Given the description of an element on the screen output the (x, y) to click on. 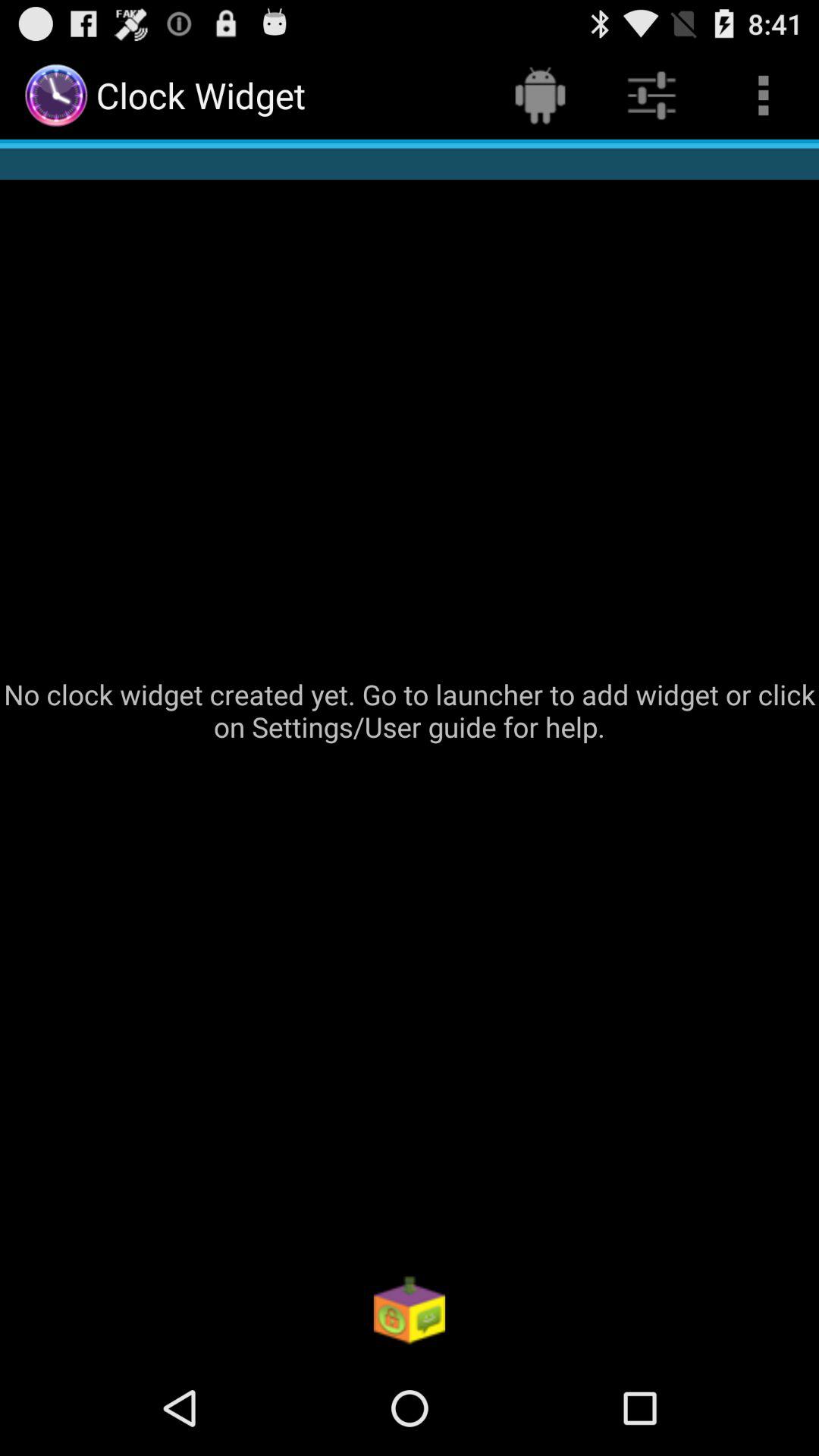
select the item at the top (540, 95)
